Given the description of an element on the screen output the (x, y) to click on. 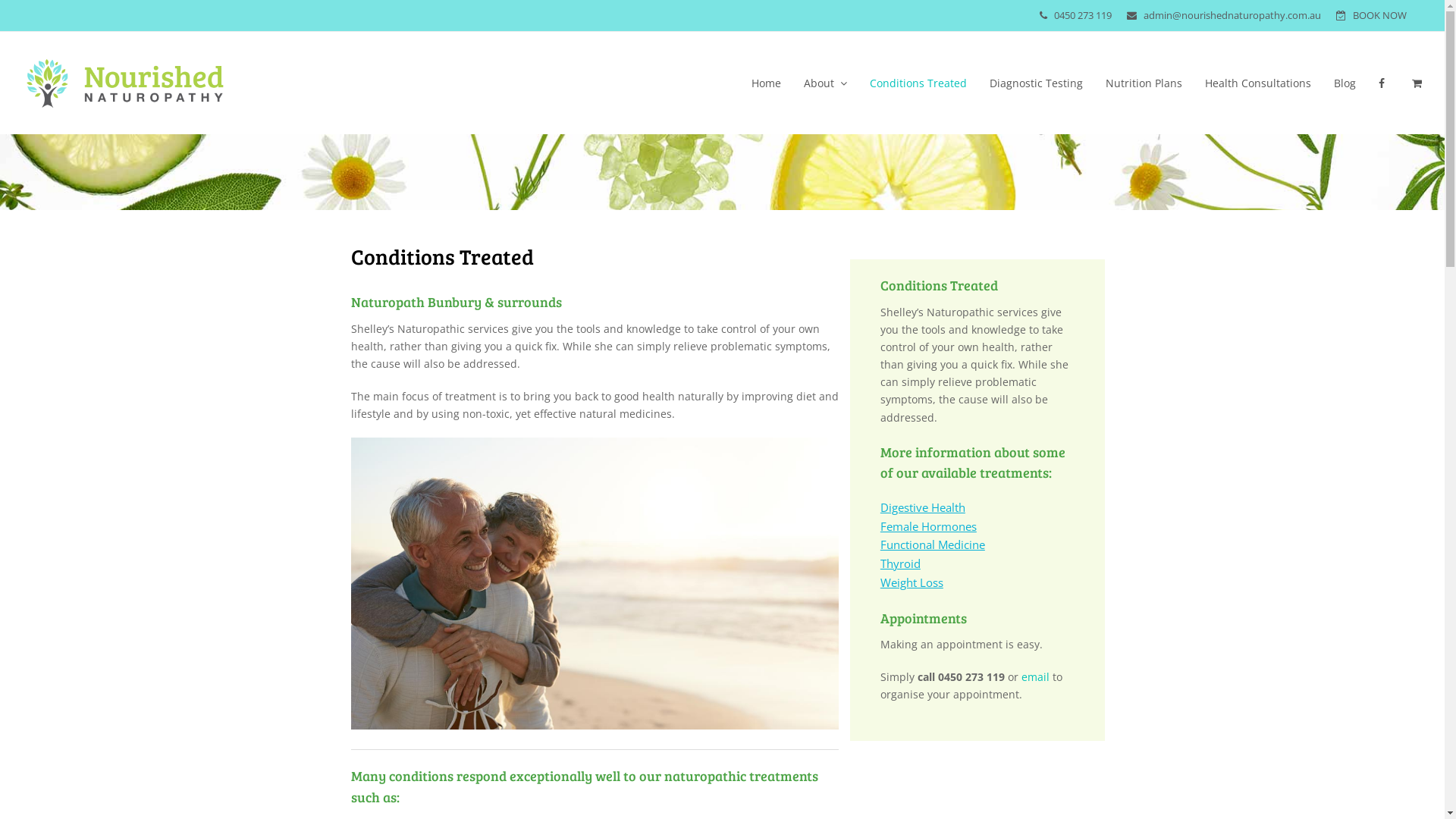
Nutrition Plans Element type: text (1143, 83)
Digestive Health Element type: text (922, 506)
Home Element type: text (766, 83)
About Element type: text (825, 83)
Blog Element type: text (1344, 83)
Conditions Treated Element type: text (918, 83)
Diagnostic Testing Element type: text (1036, 83)
Female Hormones Element type: text (928, 525)
Thyroid Element type: text (900, 563)
Weight Loss Element type: text (911, 581)
BOOK NOW Element type: text (1379, 14)
Health Consultations Element type: text (1257, 83)
email Element type: text (1035, 676)
Functional Medicine Element type: text (932, 544)
